Given the description of an element on the screen output the (x, y) to click on. 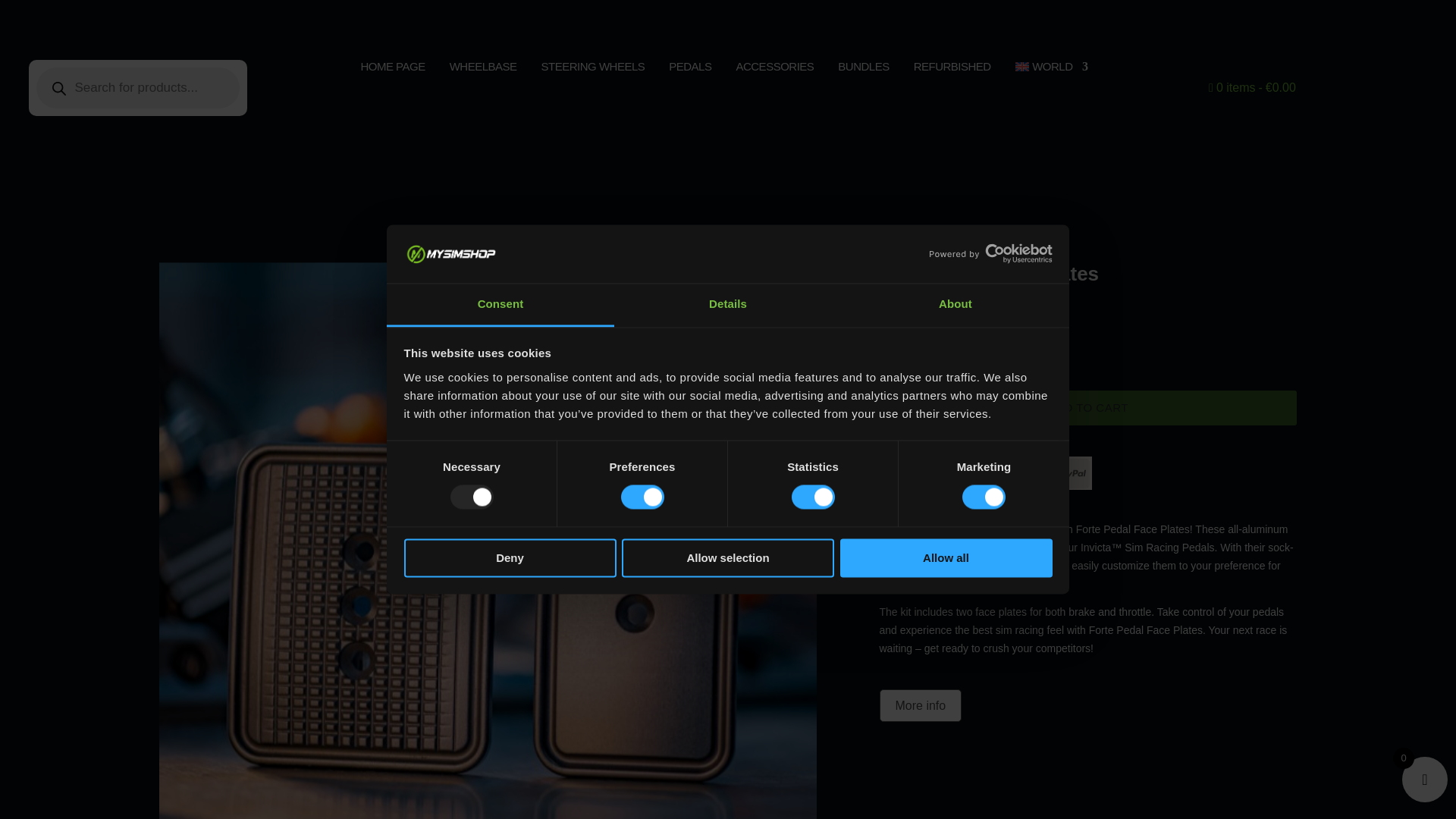
World (1050, 69)
Allow all (946, 557)
Consent (500, 304)
Details (727, 304)
About (954, 304)
Start shopping (1251, 90)
Deny (509, 557)
Allow selection (727, 557)
